Given the description of an element on the screen output the (x, y) to click on. 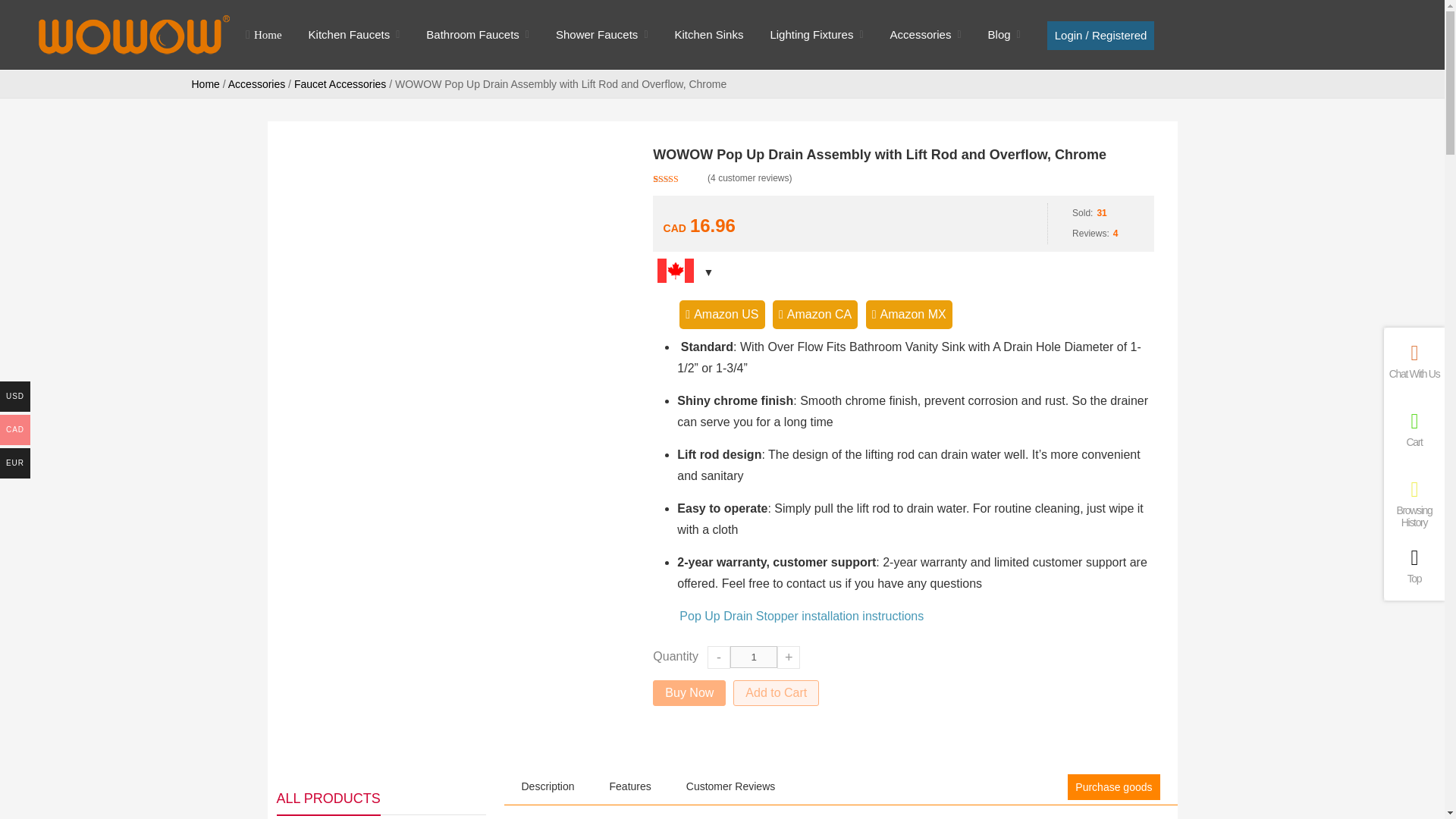
Buy Now (688, 692)
Lighting Fixtures (811, 34)
Please select your currency (903, 220)
Shower Faucets (596, 34)
Qty (753, 657)
Kitchen Sinks (709, 34)
Bathroom Faucets (472, 34)
Kitchen Faucets (349, 34)
1 (753, 657)
